Given the description of an element on the screen output the (x, y) to click on. 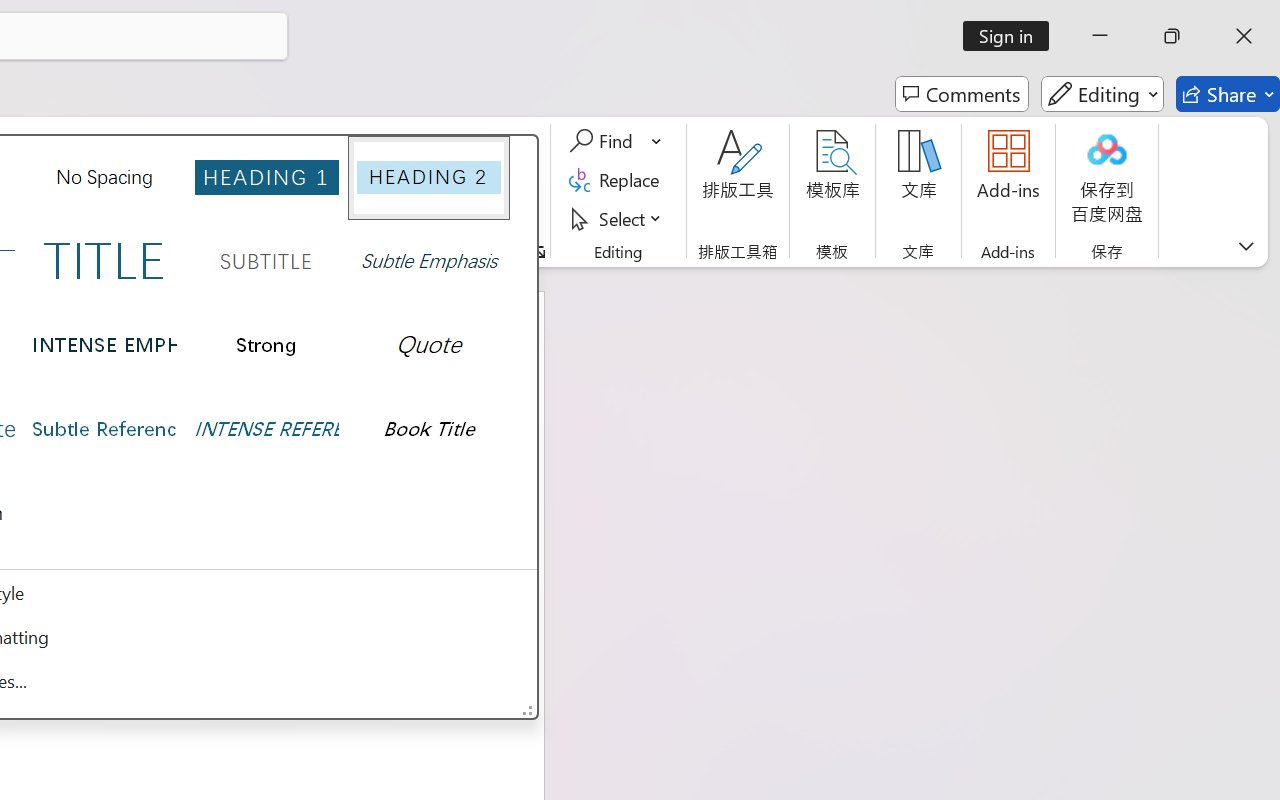
Editing (1101, 94)
